Given the description of an element on the screen output the (x, y) to click on. 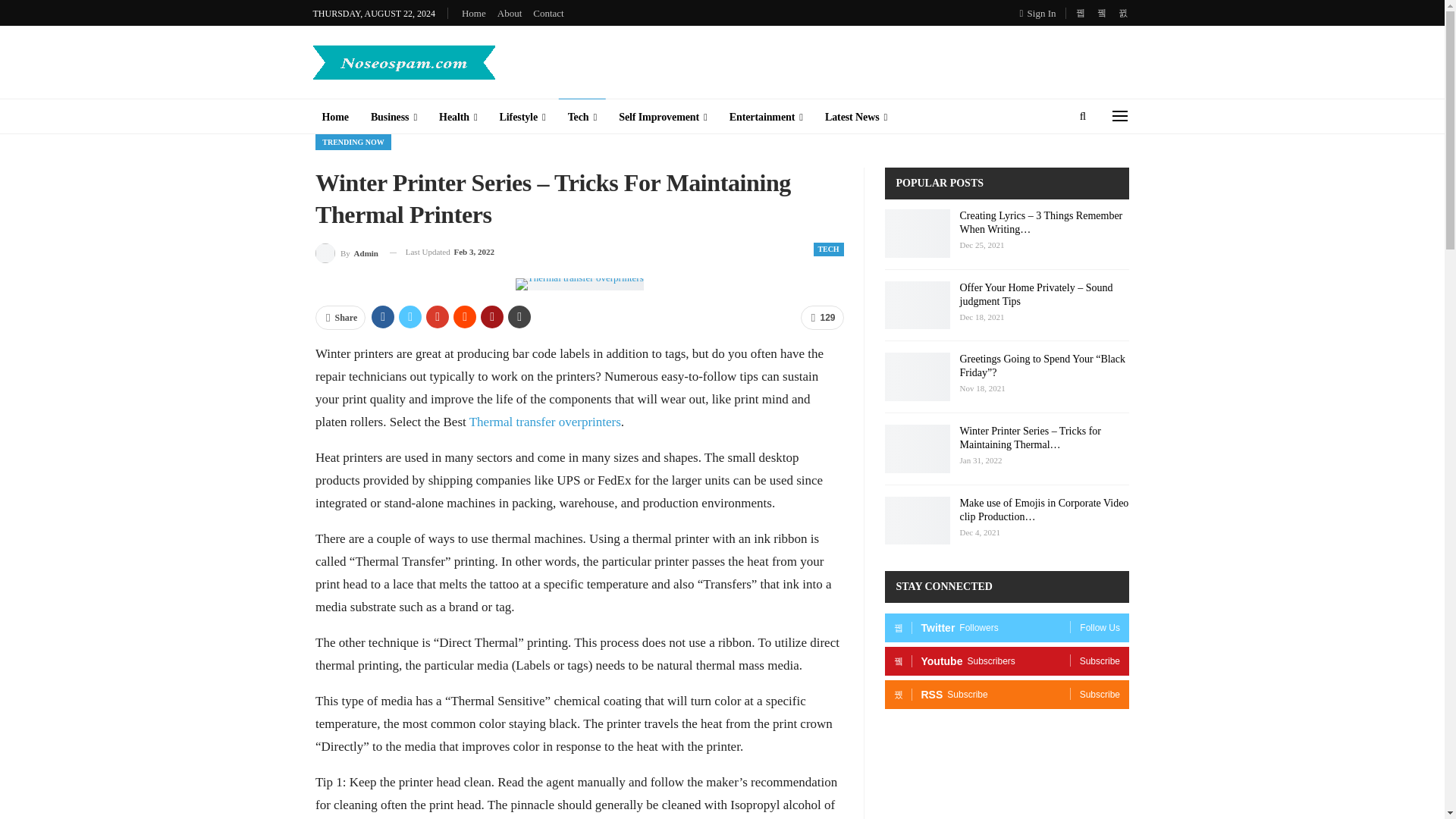
Browse Author Articles (346, 251)
Contact (547, 12)
Tech (583, 117)
Home (334, 117)
Lifestyle (522, 117)
Business (393, 117)
Sign In (1041, 13)
About (509, 12)
Home (473, 12)
Health (457, 117)
